Given the description of an element on the screen output the (x, y) to click on. 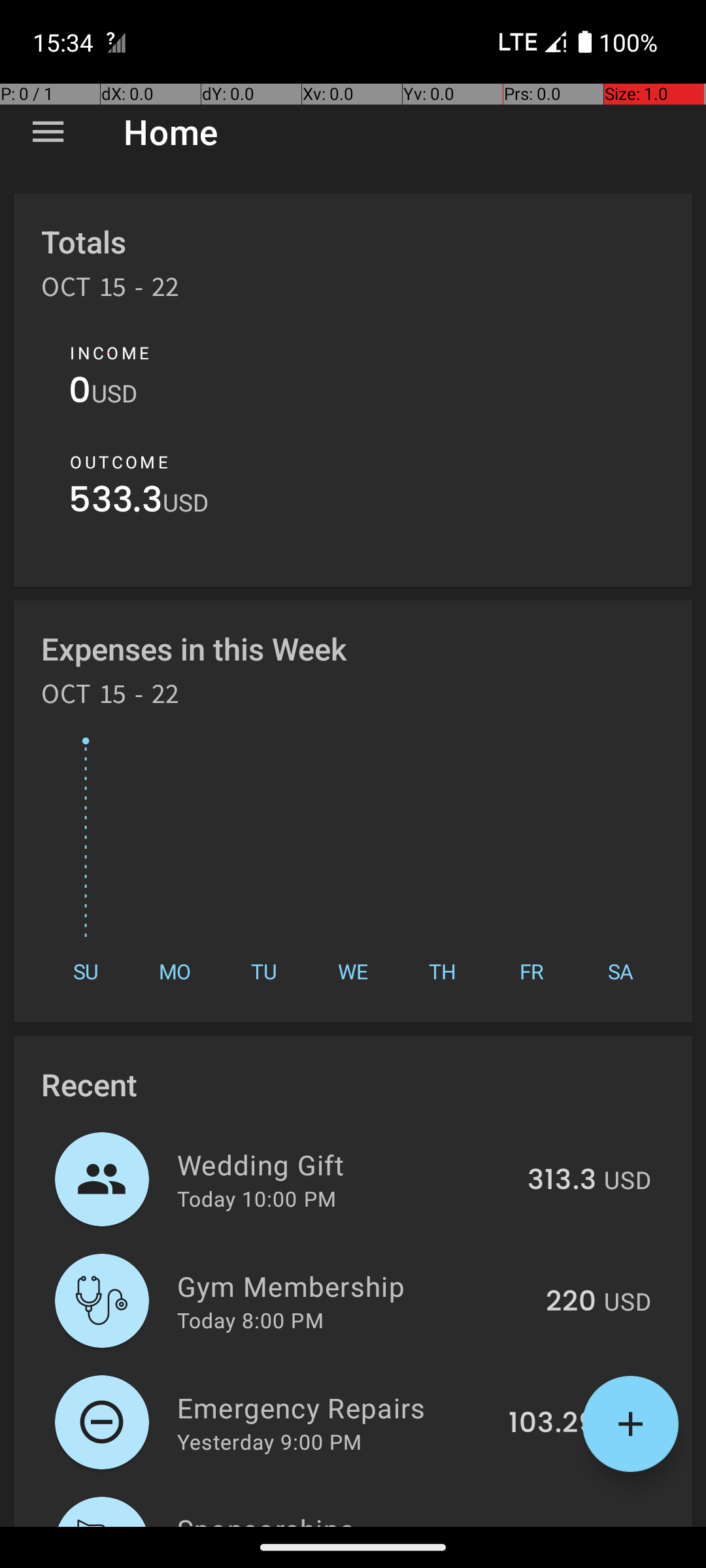
533.3 Element type: android.widget.TextView (115, 502)
Wedding Gift Element type: android.widget.TextView (344, 1164)
Today 10:00 PM Element type: android.widget.TextView (256, 1198)
313.3 Element type: android.widget.TextView (561, 1180)
Gym Membership Element type: android.widget.TextView (353, 1285)
Today 8:00 PM Element type: android.widget.TextView (250, 1320)
220 Element type: android.widget.TextView (570, 1301)
Emergency Repairs Element type: android.widget.TextView (335, 1407)
Yesterday 9:00 PM Element type: android.widget.TextView (269, 1441)
103.29 Element type: android.widget.TextView (551, 1423)
Sponsorships Element type: android.widget.TextView (341, 1518)
282.2 Element type: android.widget.TextView (558, 1524)
